Given the description of an element on the screen output the (x, y) to click on. 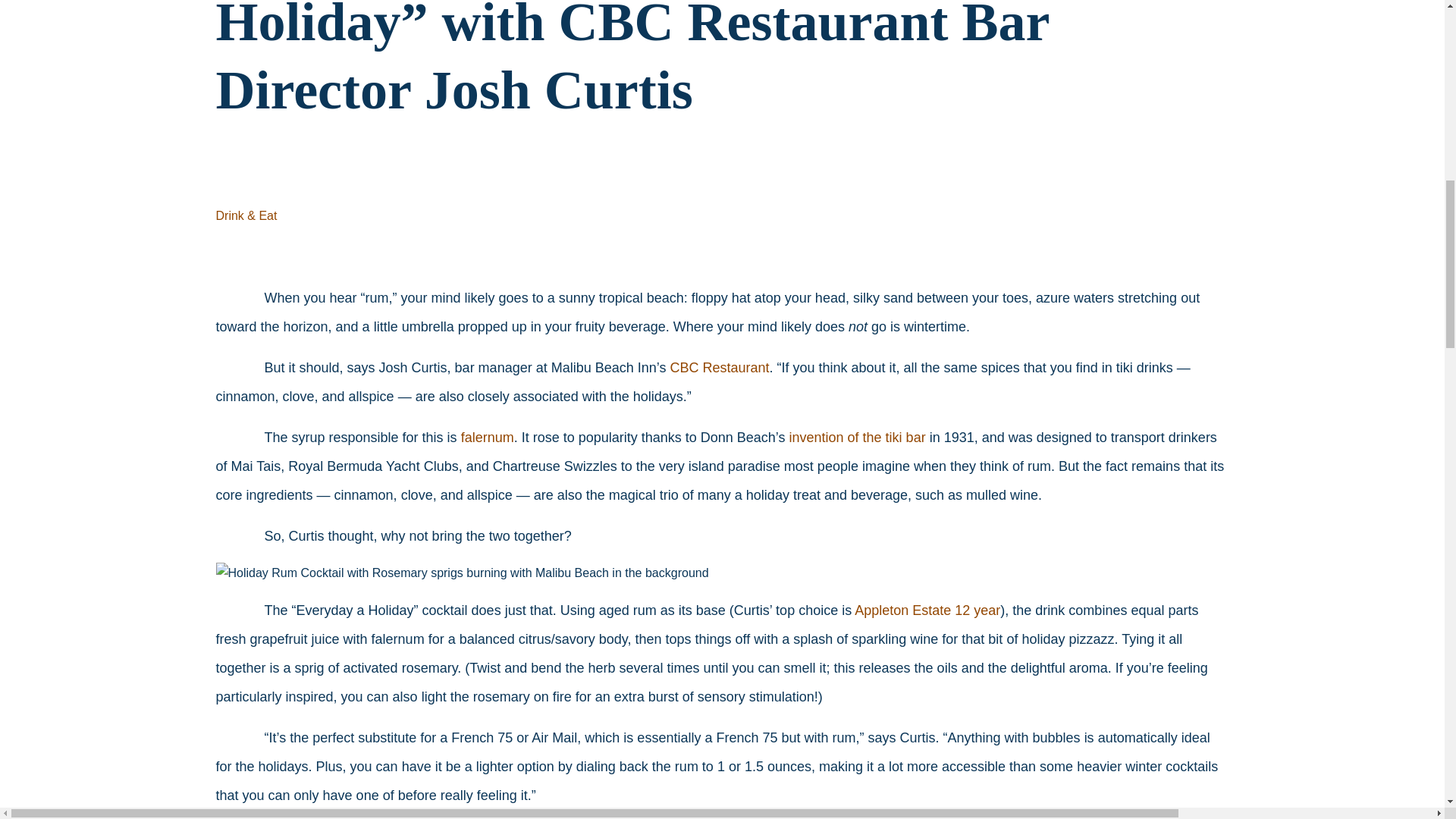
Appleton Estate 12 year (927, 610)
CBC Restaurant (718, 367)
invention of the tiki bar (857, 437)
falernum (487, 437)
